Given the description of an element on the screen output the (x, y) to click on. 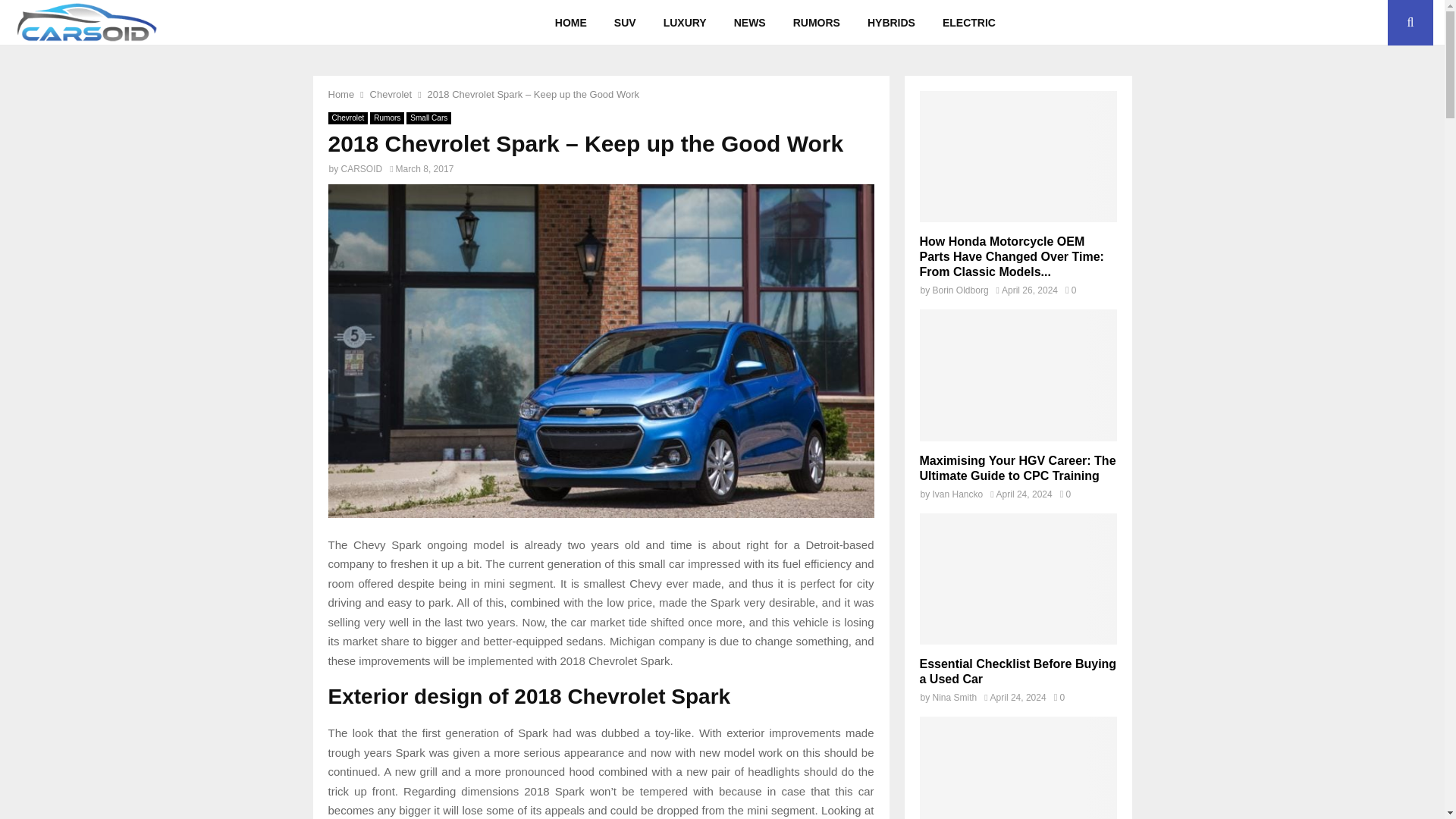
Small Cars (428, 118)
HOME (570, 22)
ELECTRIC (968, 22)
Essential Checklist Before Buying a Used Car (1017, 578)
NEWS (749, 22)
Rumors (386, 118)
RUMORS (815, 22)
LUXURY (684, 22)
15 Tips for Replacing Your Battery Quickly (1017, 767)
Chevrolet (347, 118)
Chevrolet (390, 93)
CARSOID (361, 168)
